Given the description of an element on the screen output the (x, y) to click on. 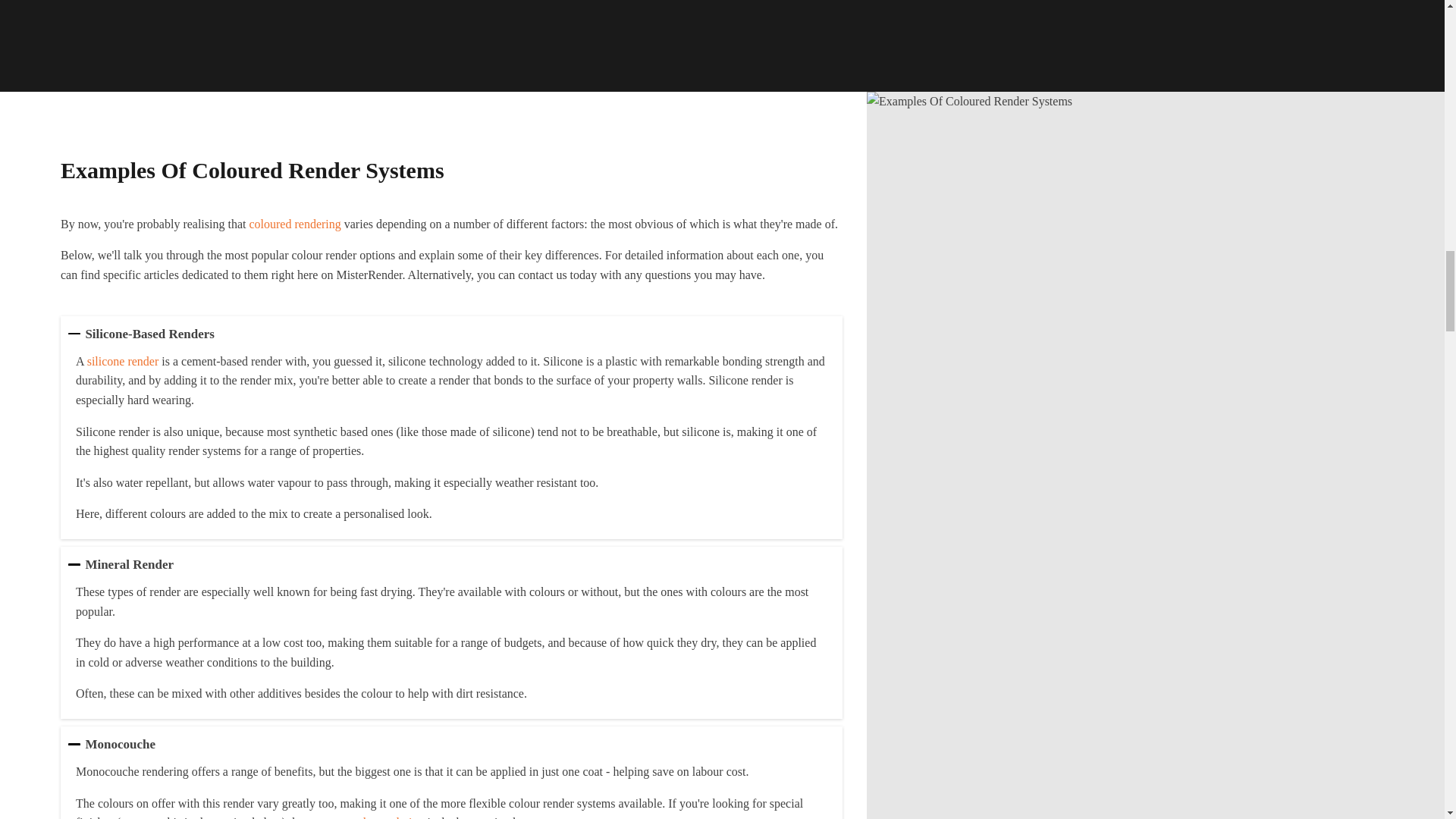
coloured rendering (294, 223)
monocouche rendering (368, 817)
silicone render (122, 360)
